Given the description of an element on the screen output the (x, y) to click on. 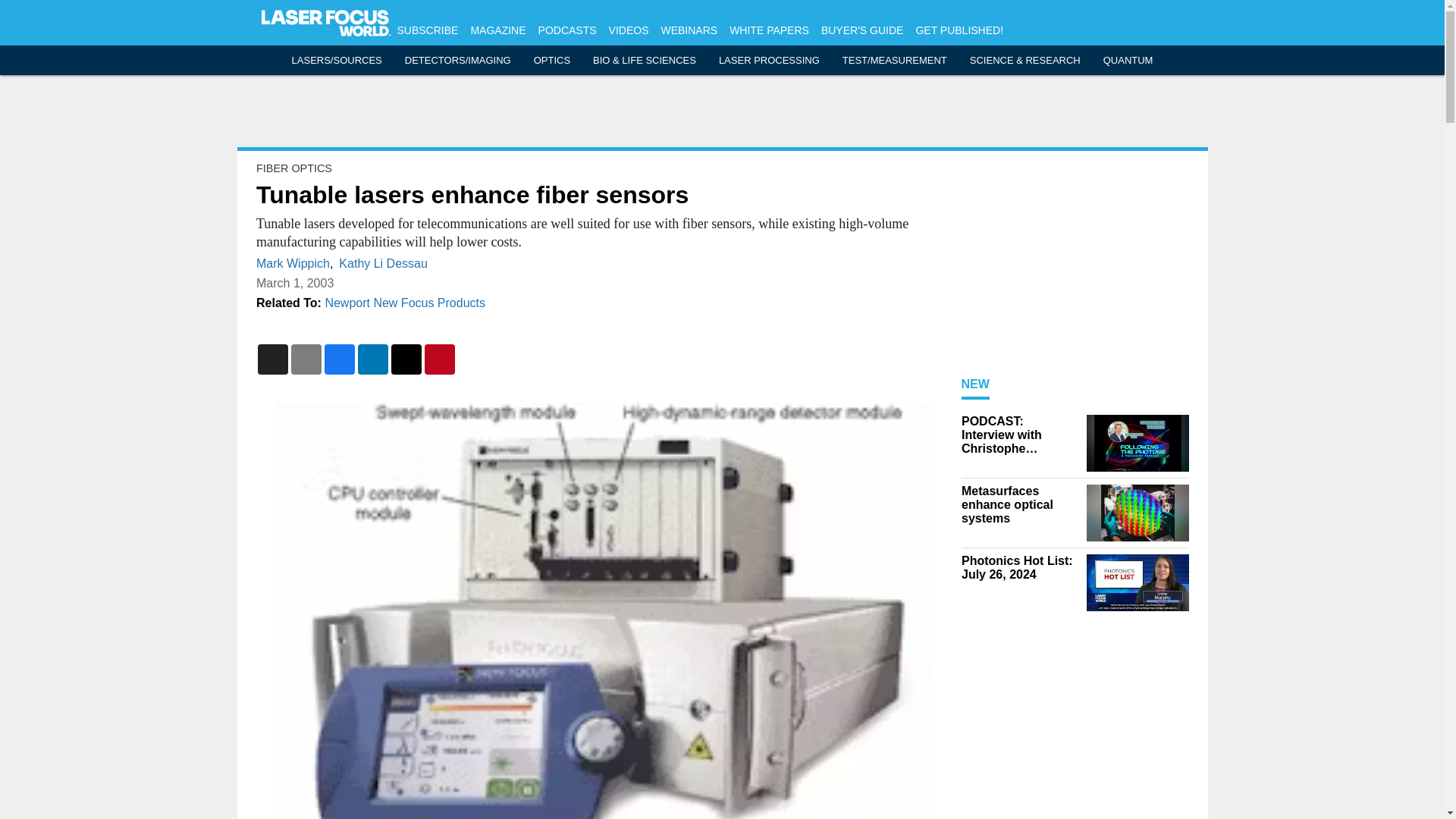
Mark Wippich (293, 263)
Newport New Focus Products (404, 302)
PODCASTS (567, 30)
WEBINARS (689, 30)
SUBSCRIBE (427, 30)
OPTICS (552, 60)
GET PUBLISHED! (959, 30)
BUYER'S GUIDE (861, 30)
MAGAZINE (497, 30)
VIDEOS (628, 30)
QUANTUM (1128, 60)
WHITE PAPERS (769, 30)
Kathy Li Dessau (383, 263)
FIBER OPTICS (293, 168)
